Given the description of an element on the screen output the (x, y) to click on. 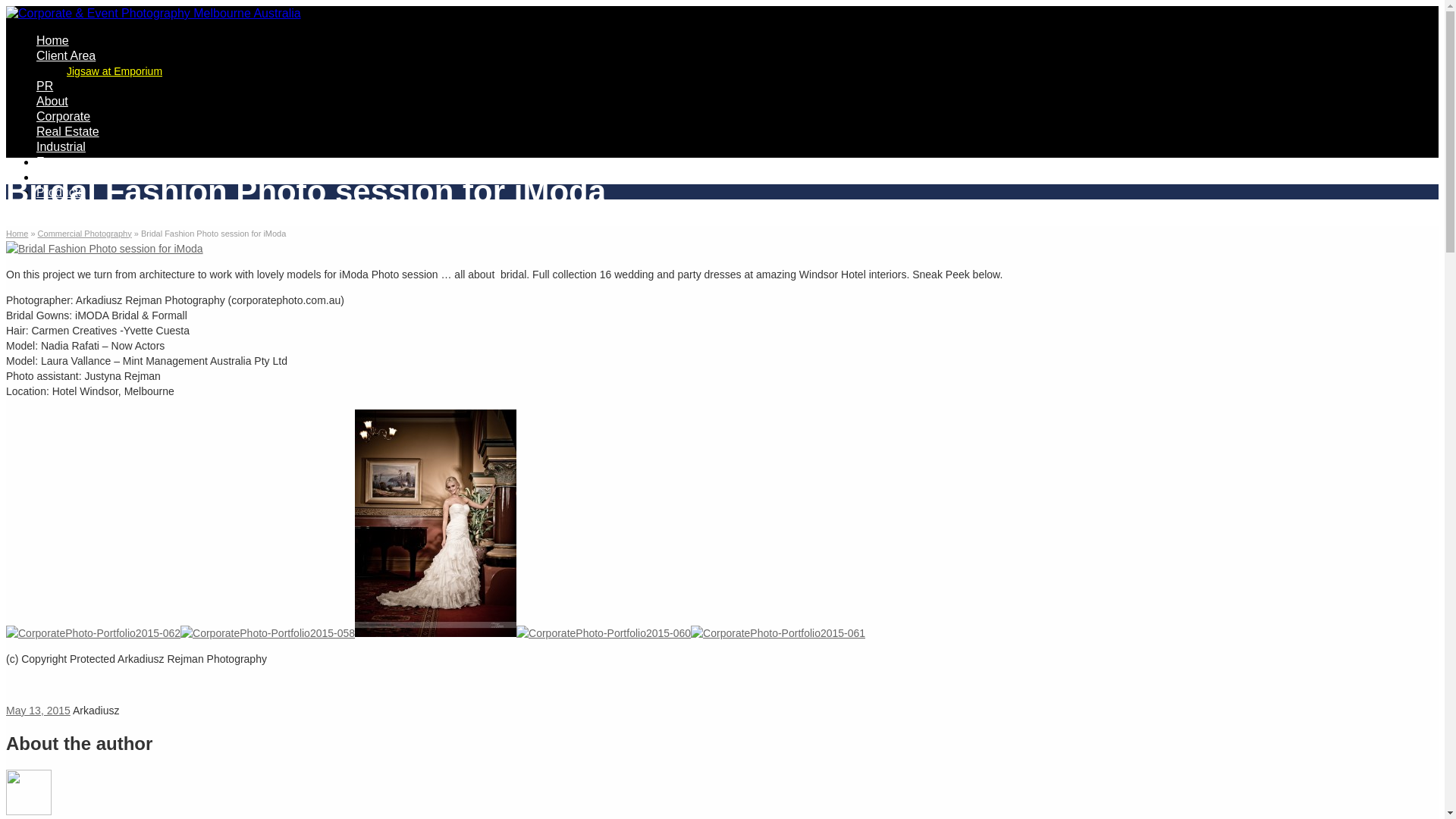
Home Element type: text (52, 40)
Real Estate Element type: text (67, 131)
Home Element type: text (17, 233)
Jigsaw at Emporium Element type: text (114, 71)
Client Area Element type: text (65, 55)
May 13, 2015 Element type: text (38, 710)
Industrial Element type: text (60, 146)
PR Element type: text (44, 85)
Bridal Fashion Photo session for iModa Element type: hover (104, 248)
Retail & food Element type: text (71, 176)
Products Element type: text (60, 191)
About Element type: text (52, 100)
Events Element type: text (54, 161)
Corporate Element type: text (63, 115)
Commercial Photography Element type: text (84, 233)
